Given the description of an element on the screen output the (x, y) to click on. 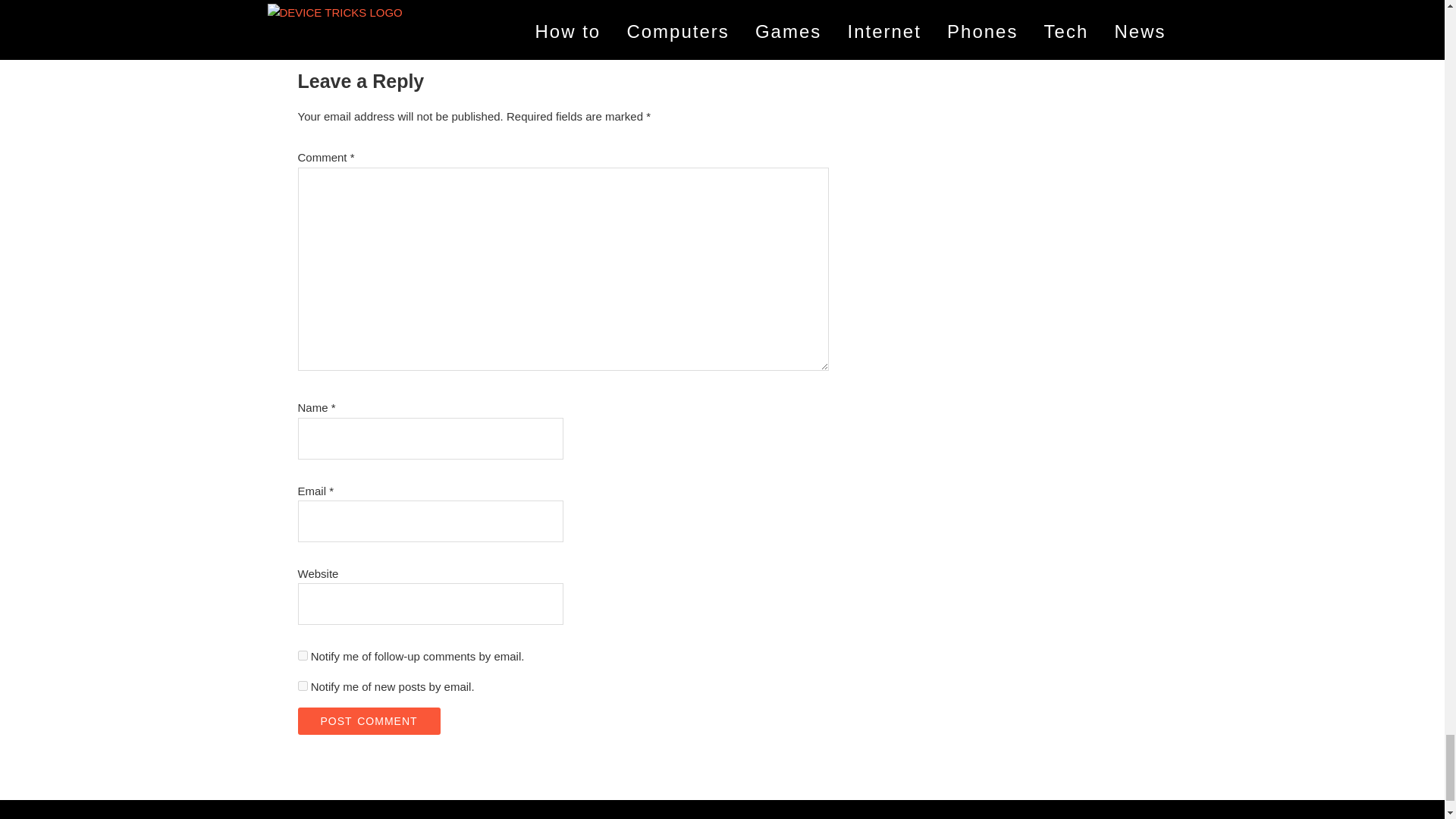
Post Comment (368, 720)
subscribe (302, 685)
Post Comment (368, 720)
subscribe (302, 655)
